Given the description of an element on the screen output the (x, y) to click on. 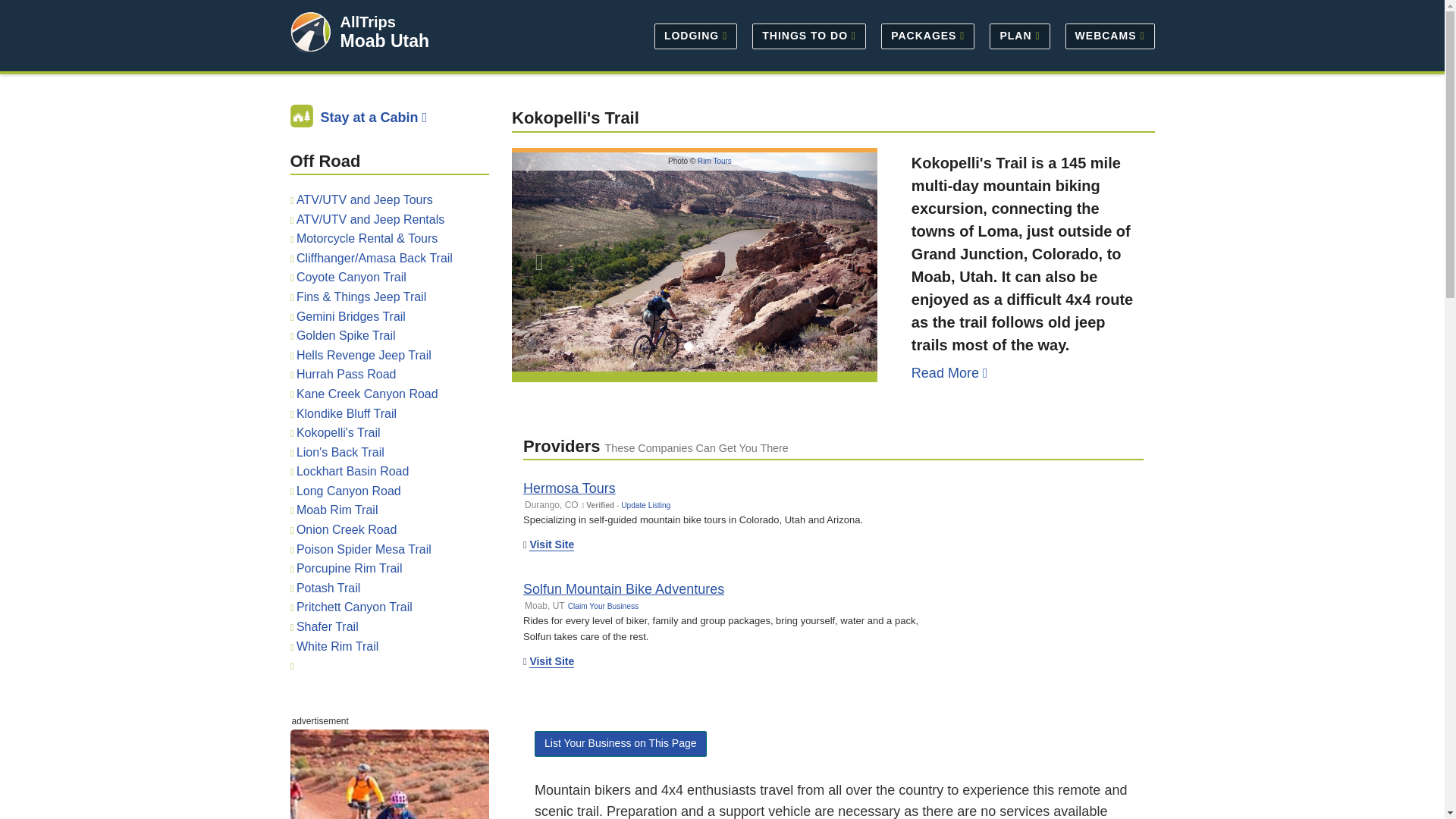
Moab Utah (384, 40)
WEBCAMS (1106, 35)
THINGS TO DO (808, 35)
PLAN (1019, 35)
AllTrips (366, 21)
PACKAGES (927, 35)
LODGING (695, 35)
Rim Tours (714, 161)
